Given the description of an element on the screen output the (x, y) to click on. 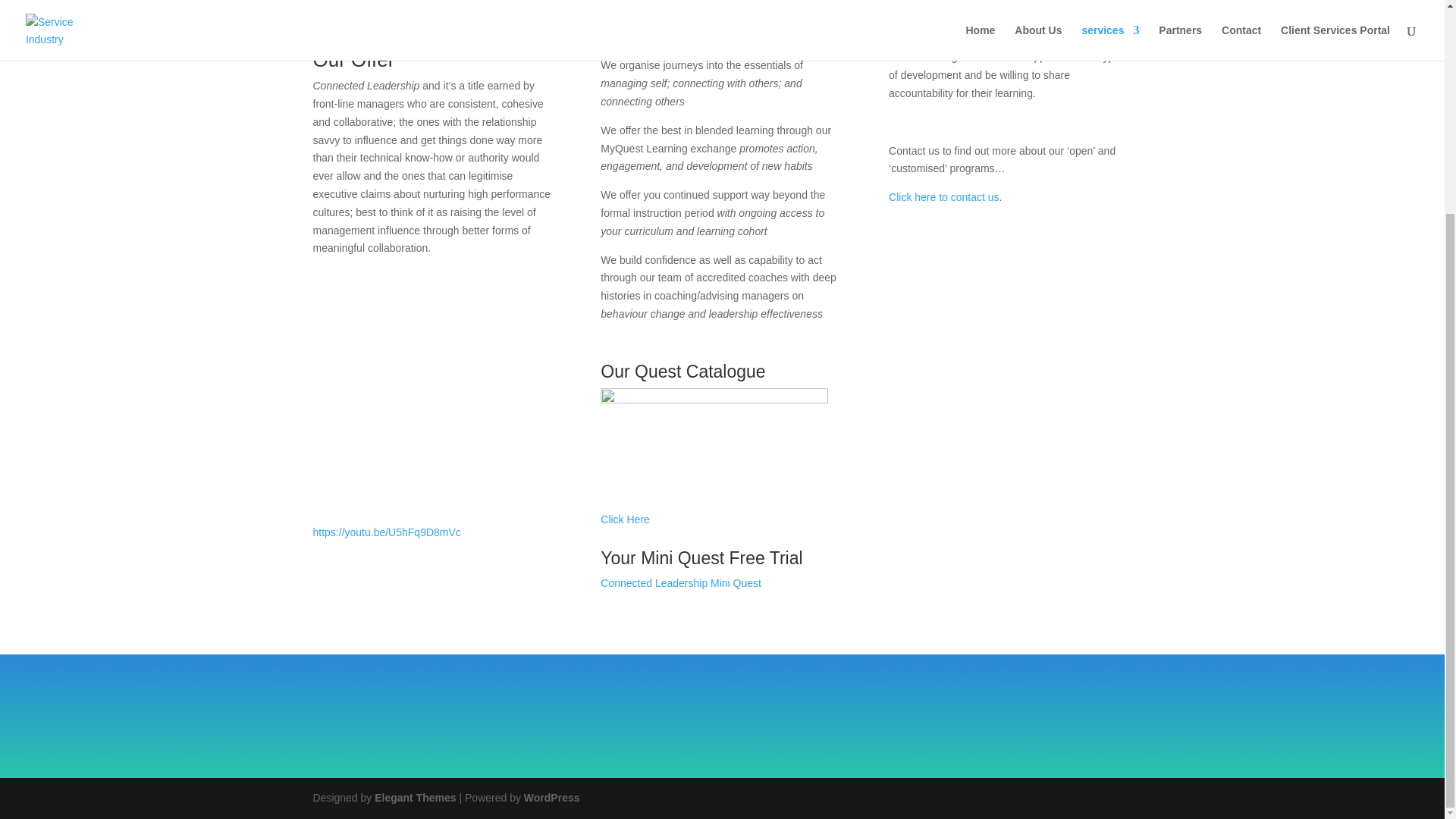
WordPress (551, 797)
Click Here (624, 519)
Click here to contact us (943, 196)
Elegant Themes (414, 797)
Premium WordPress Themes (414, 797)
Connected Leadership Mini Quest (680, 582)
YouTube video player (433, 387)
